Given the description of an element on the screen output the (x, y) to click on. 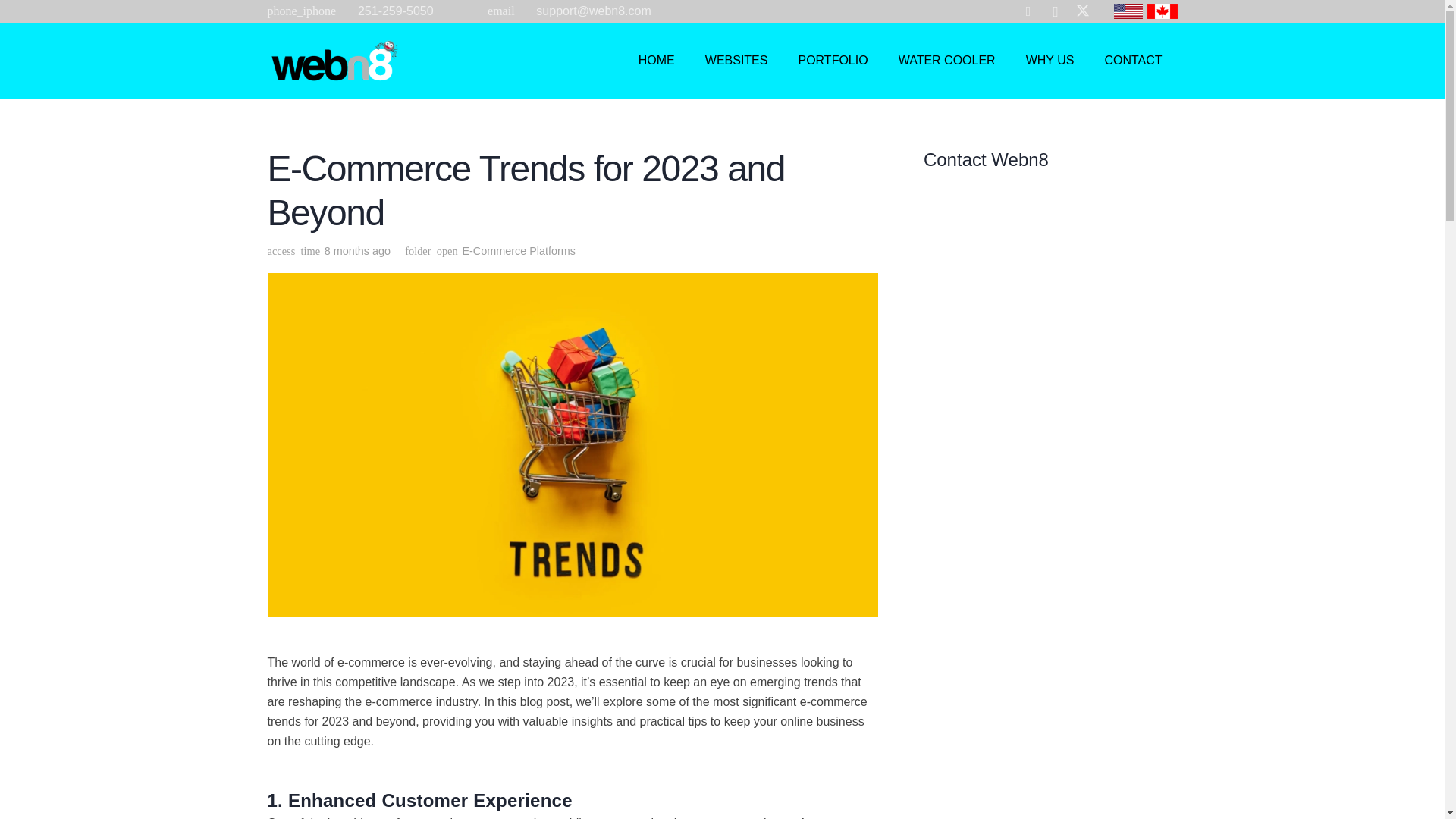
CONTACT (1132, 60)
WATER COOLER (946, 60)
WEBSITES (736, 60)
WHY US (1049, 60)
HOME (656, 60)
Instagram (1055, 12)
251-259-5050 (395, 10)
Twitter (1082, 12)
E-Commerce Platforms (518, 250)
PORTFOLIO (832, 60)
Facebook (1028, 12)
